Given the description of an element on the screen output the (x, y) to click on. 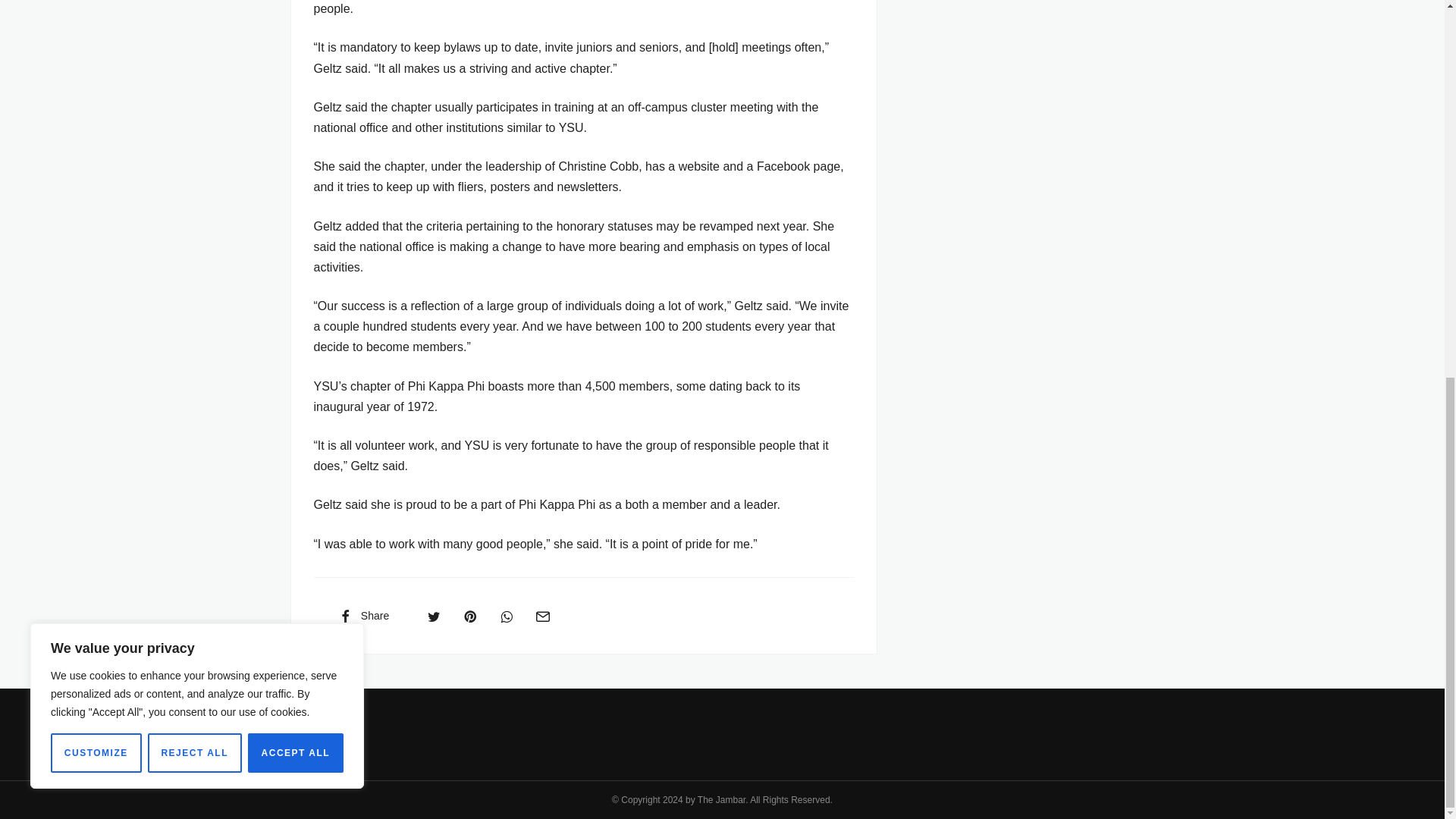
Share on Whatsapp (506, 615)
Pin this Post (469, 615)
REJECT ALL (194, 54)
CUSTOMIZE (95, 54)
Share via Email (542, 615)
ACCEPT ALL (295, 54)
Share on Facebook (363, 615)
Share on Twitter (433, 615)
